Given the description of an element on the screen output the (x, y) to click on. 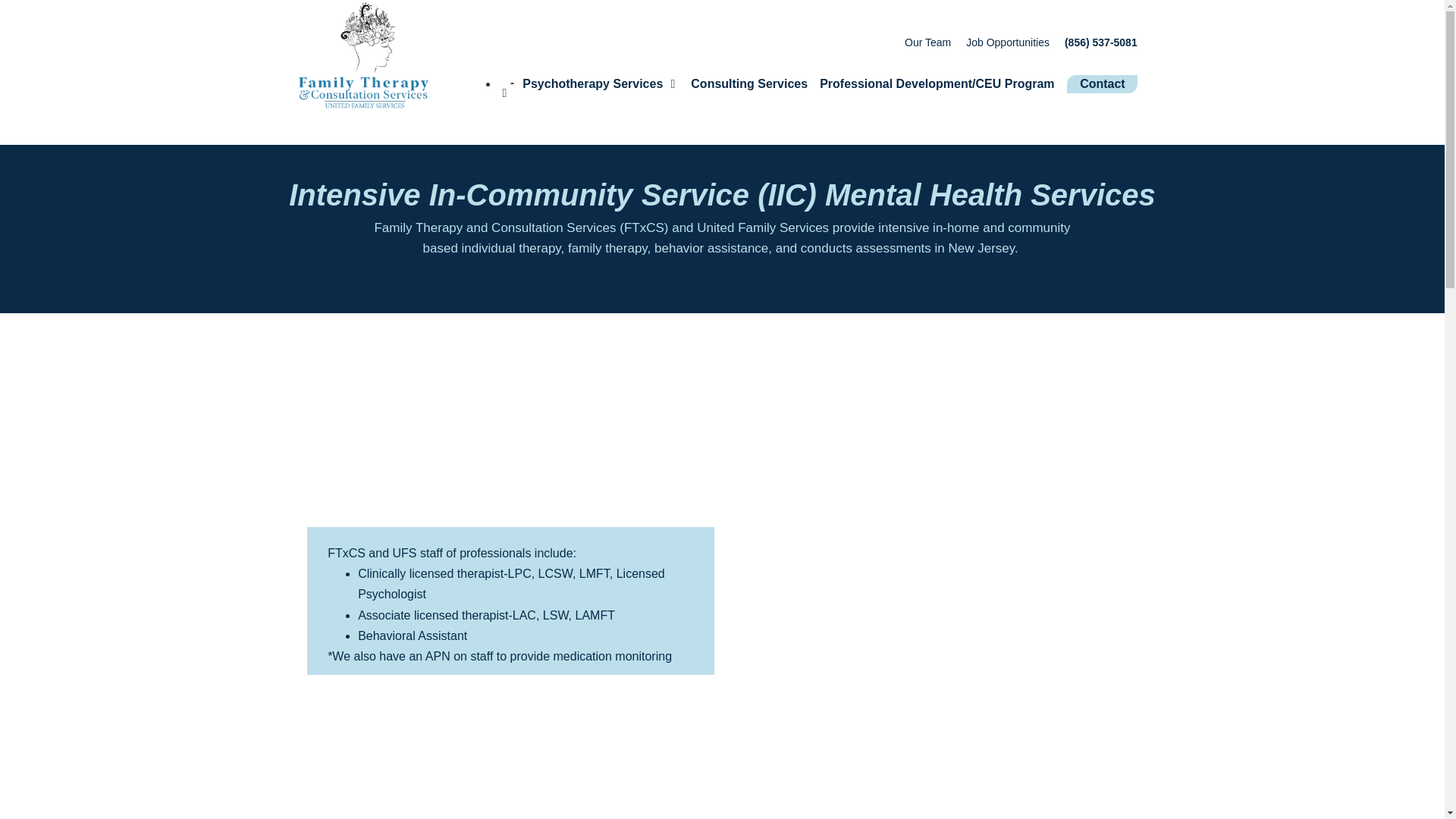
Contact (1102, 84)
Consulting Services (749, 84)
Job Opportunities (1007, 42)
Our Team (927, 42)
